Given the description of an element on the screen output the (x, y) to click on. 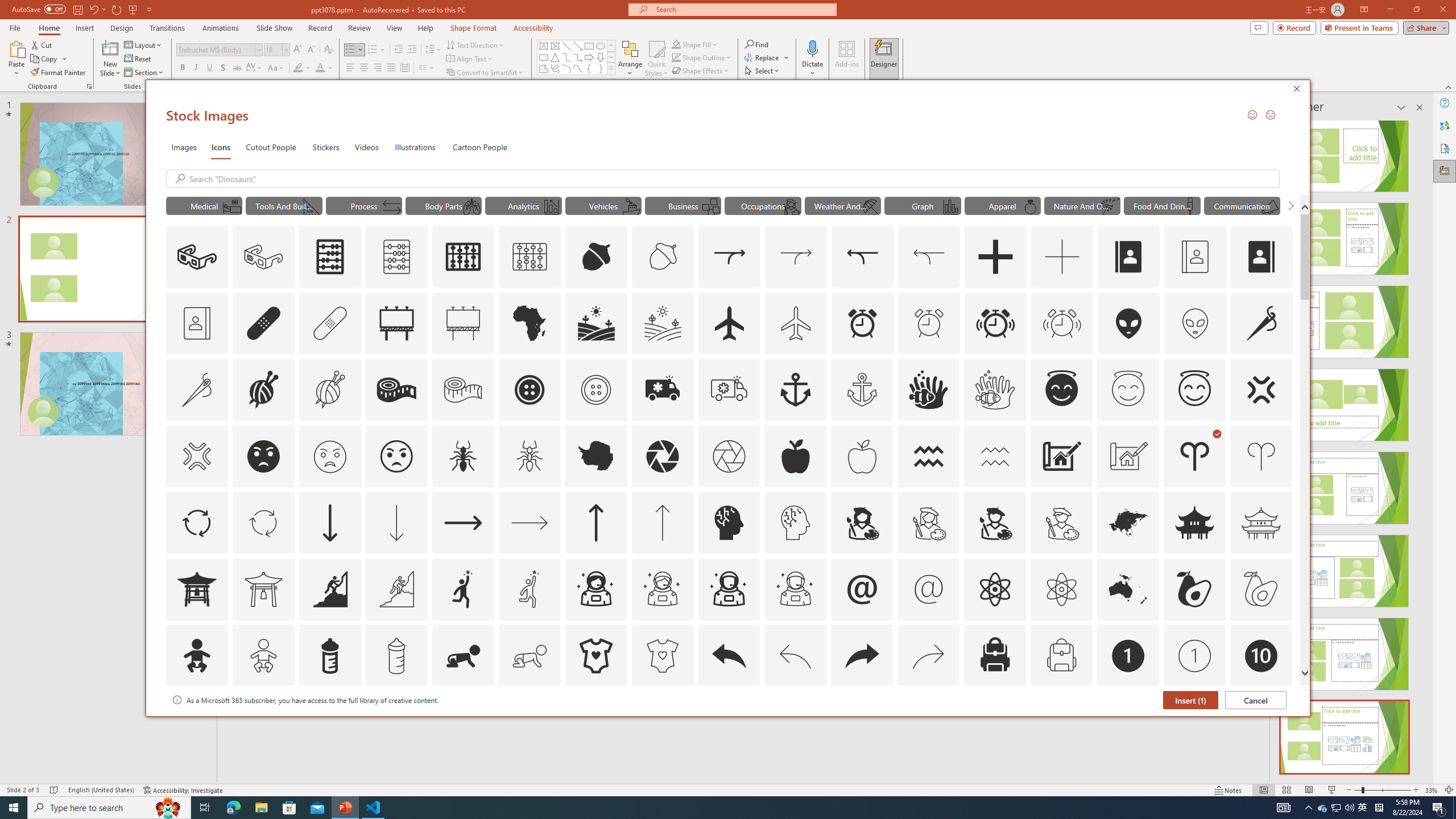
Shape Fill Dark Green, Accent 2 (675, 44)
AutomationID: Icons_Badge8 (1061, 721)
AutomationID: Icons_AstronautMale_M (795, 588)
AutomationID: Icons_AlterationsTailoring (1261, 323)
AutomationID: Icons_Asia (1128, 522)
